Given the description of an element on the screen output the (x, y) to click on. 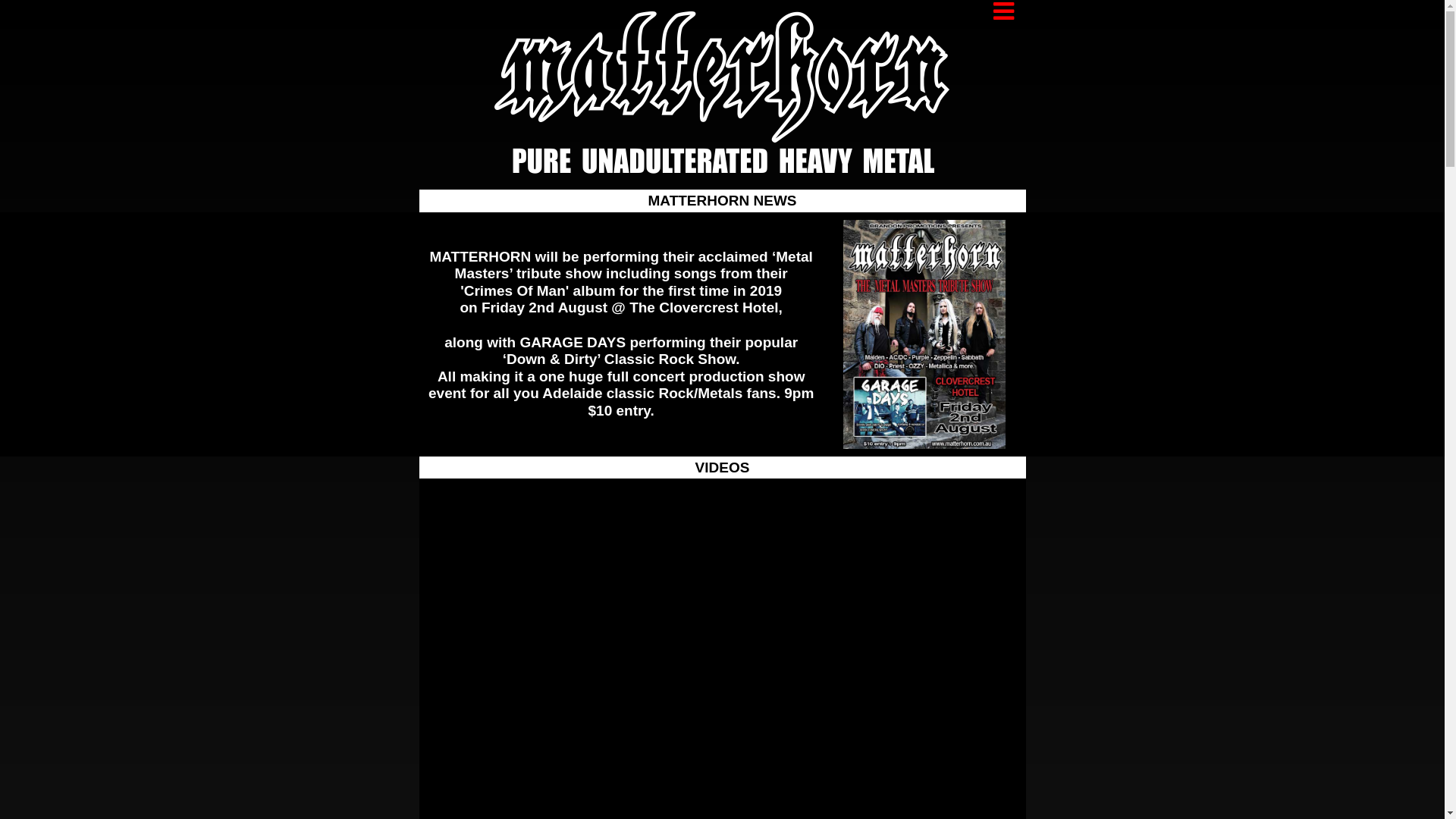
  Element type: text (1003, 11)
